Given the description of an element on the screen output the (x, y) to click on. 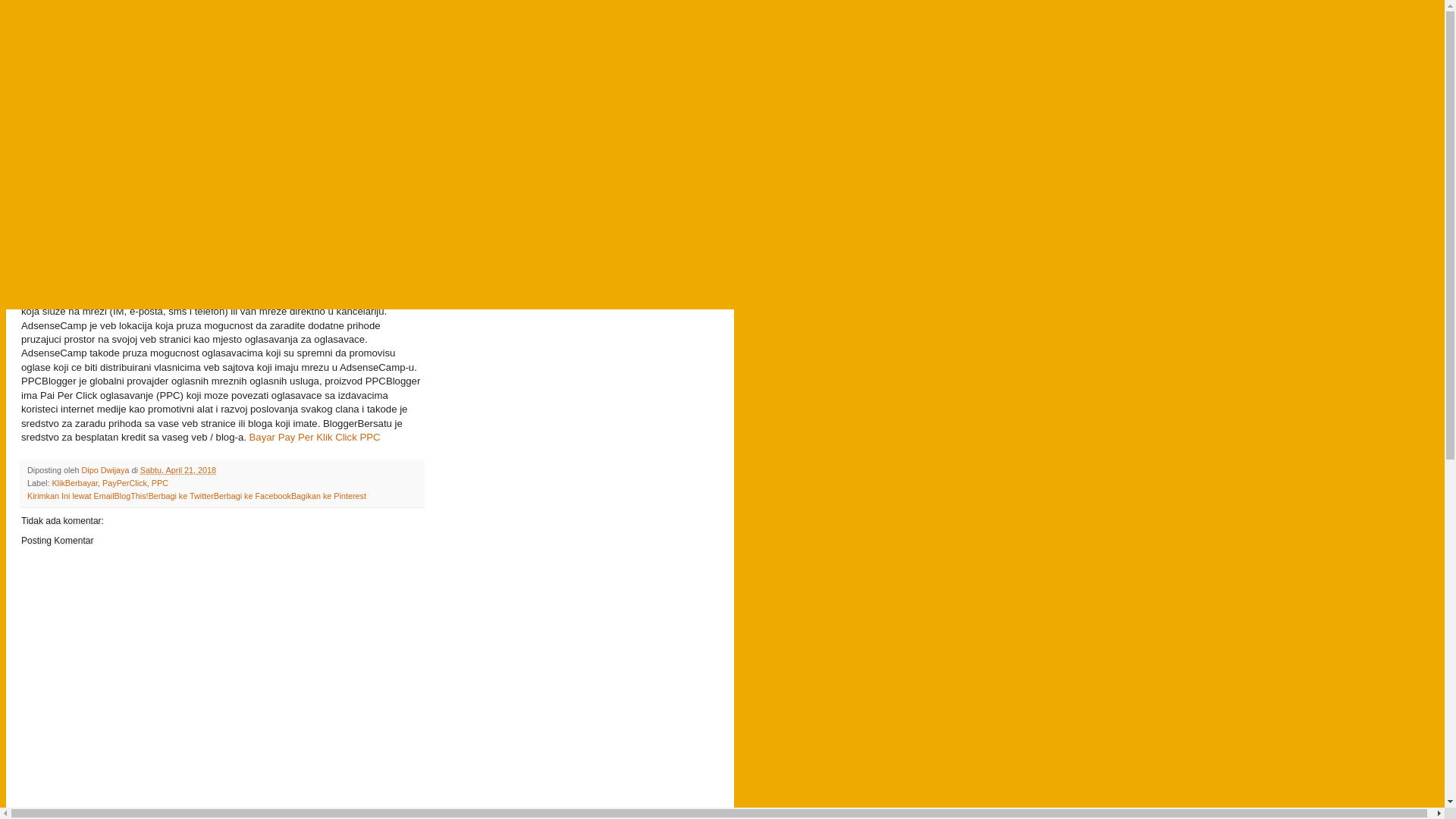
Bayar Pay Per Klik Click PPC Element type: text (314, 436)
Dipo Dwijaya Element type: text (106, 469)
Bayar Pay Per Klik Click PPC Element type: text (86, 170)
BlogThis! Element type: text (131, 495)
Berbagi ke Facebook Element type: text (252, 495)
KlikBerbayar Element type: text (74, 482)
PPC Element type: text (159, 482)
PayPerClick Element type: text (124, 482)
ViralPers.cf Element type: text (99, 52)
Kirimkan Ini lewat Email Element type: text (70, 495)
Sabtu, April 21, 2018 Element type: text (178, 469)
Bagikan ke Pinterest Element type: text (328, 495)
Berbagi ke Twitter Element type: text (180, 495)
